Given the description of an element on the screen output the (x, y) to click on. 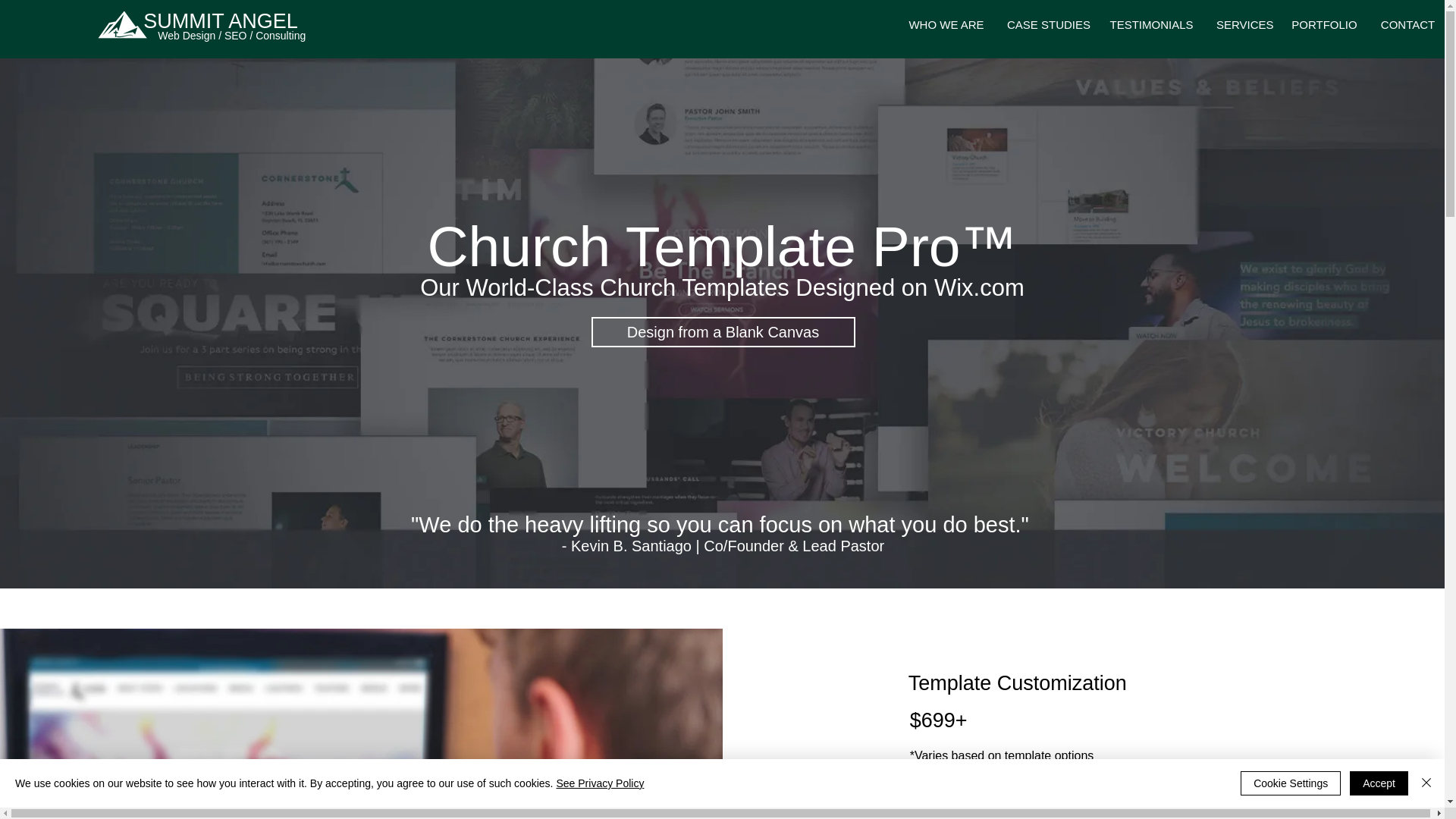
Design from a Blank Canvas (723, 331)
WHO WE ARE (945, 24)
See Privacy Policy (599, 783)
CASE STUDIES (1046, 24)
CONTACT (1407, 24)
Accept (1378, 783)
TESTIMONIALS (1151, 24)
SUMMIT ANGEL (220, 20)
